Given the description of an element on the screen output the (x, y) to click on. 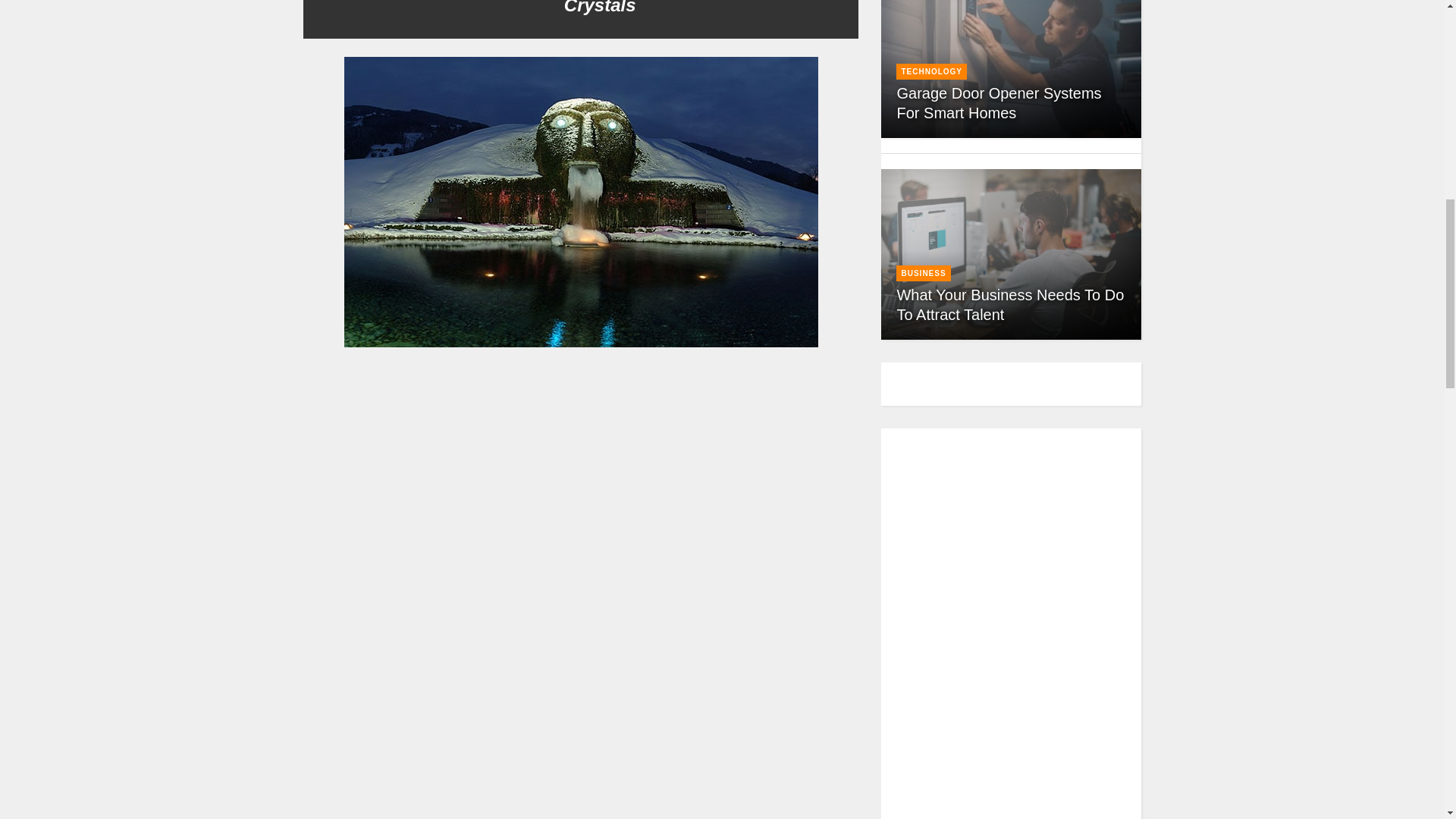
worlds-largest-kaleidoscope-crystals (580, 761)
